Given the description of an element on the screen output the (x, y) to click on. 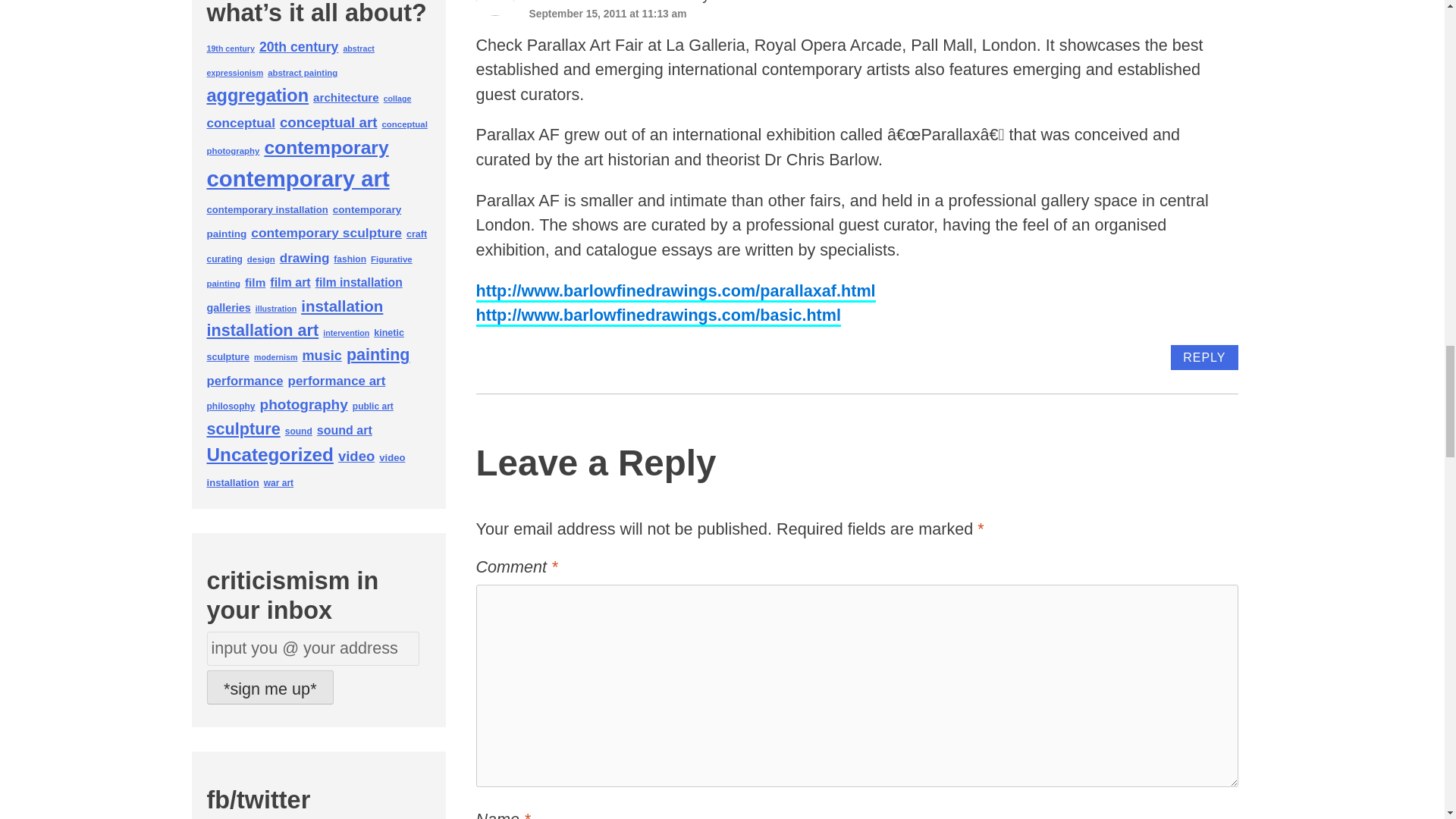
September 15, 2011 at 11:13 am (608, 13)
REPLY (1203, 357)
Aleksandar Basic (605, 2)
